Given the description of an element on the screen output the (x, y) to click on. 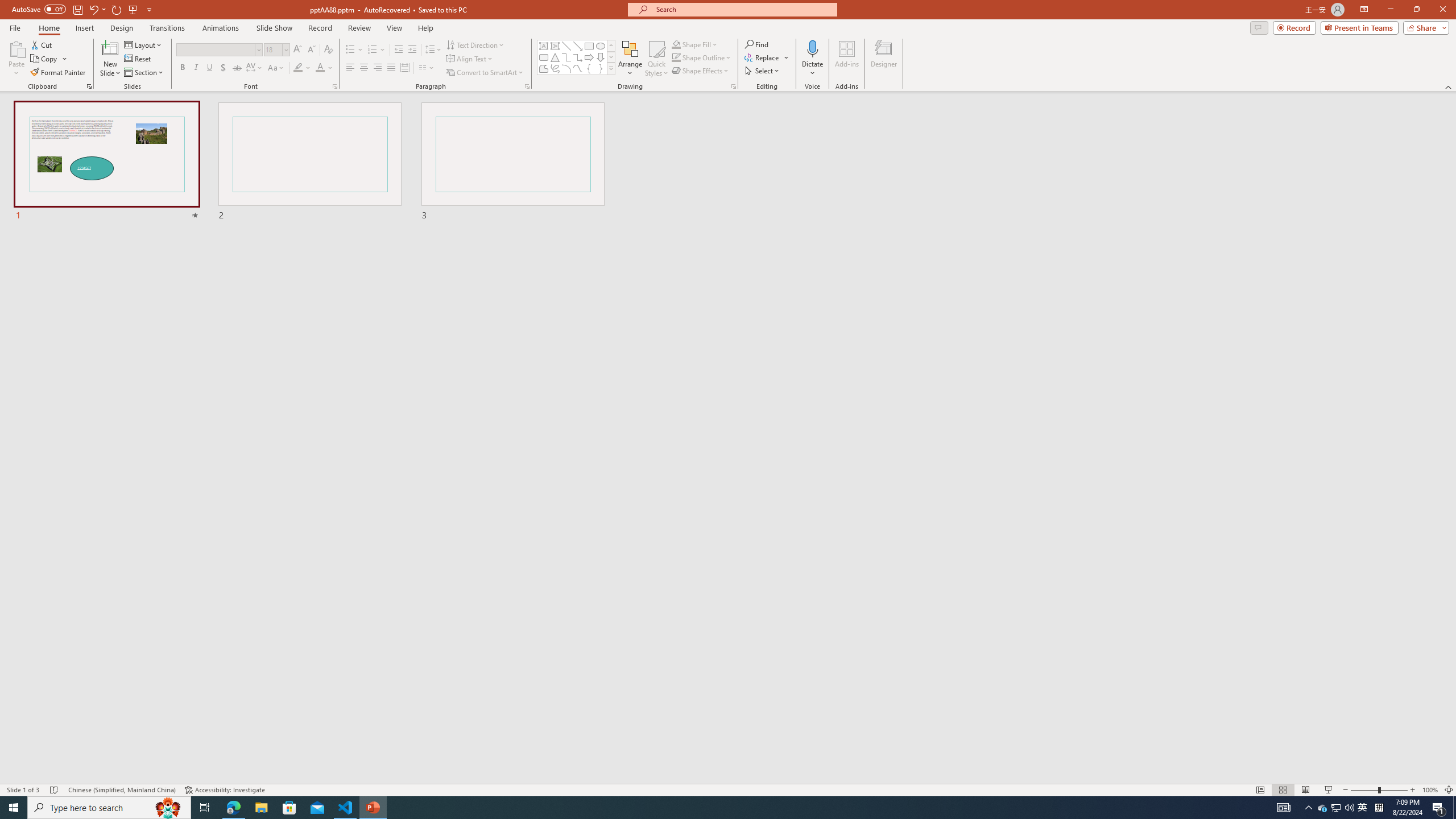
File Tab (15, 27)
Freeform: Shape (543, 68)
Copy (45, 58)
Review (359, 28)
Class: MsoCommandBar (728, 789)
Shapes (611, 68)
Increase Font Size (297, 49)
Align Text (470, 58)
Font... (334, 85)
Convert to SmartArt (485, 72)
